Given the description of an element on the screen output the (x, y) to click on. 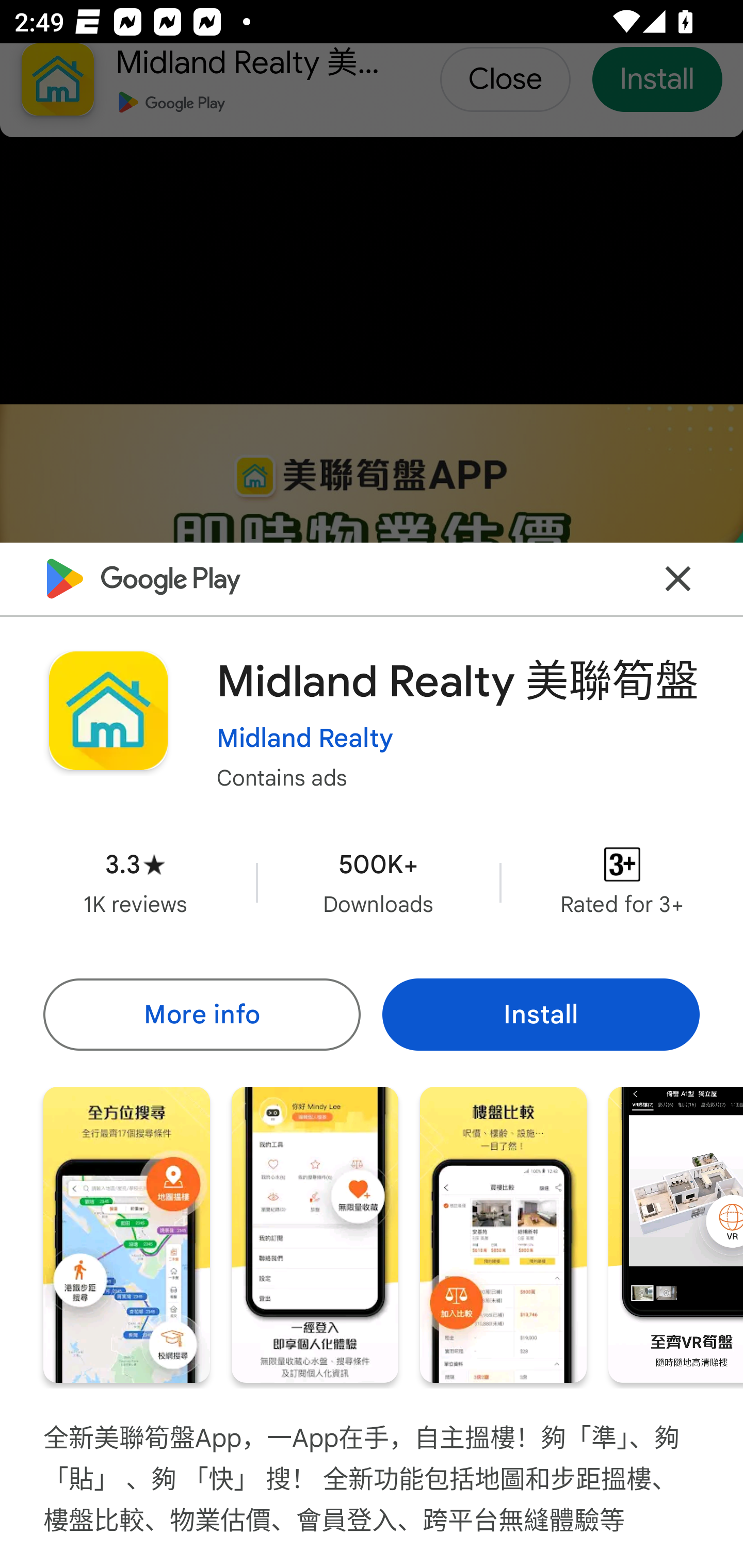
Close (677, 578)
Image of app or game icon for Midland Realty 美聯筍盤 (108, 711)
Midland Realty (304, 737)
More info (201, 1014)
Install (540, 1014)
Screenshot "1" of "7" (126, 1234)
Screenshot "2" of "7" (314, 1234)
Screenshot "3" of "7" (502, 1234)
Screenshot "4" of "7" (675, 1234)
